Given the description of an element on the screen output the (x, y) to click on. 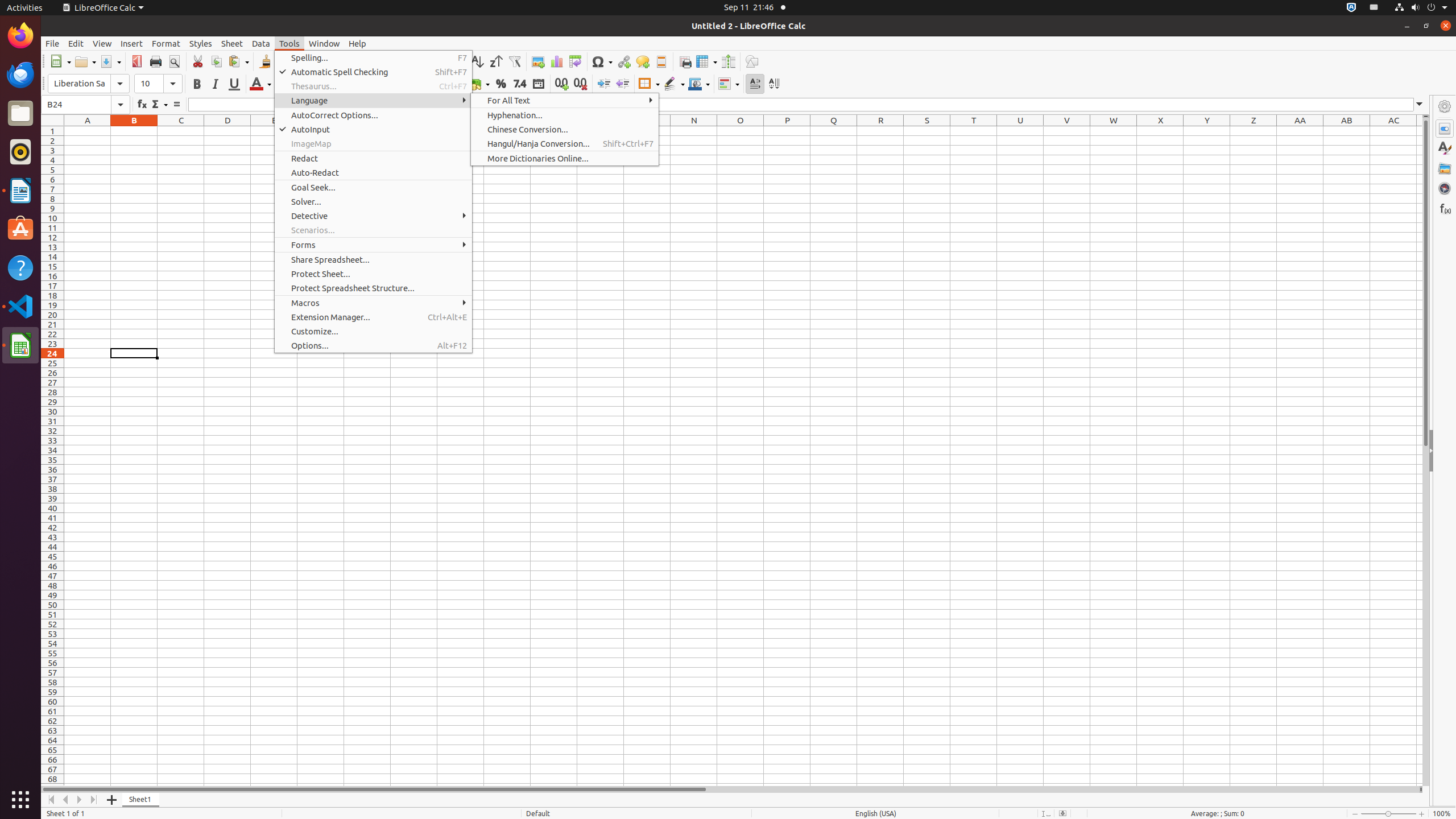
Print Area Element type: push-button (684, 61)
U1 Element type: table-cell (1020, 130)
More Dictionaries Online... Element type: menu-item (564, 158)
AutoCorrect Options... Element type: menu-item (373, 115)
Sort Descending Element type: push-button (495, 61)
